Given the description of an element on the screen output the (x, y) to click on. 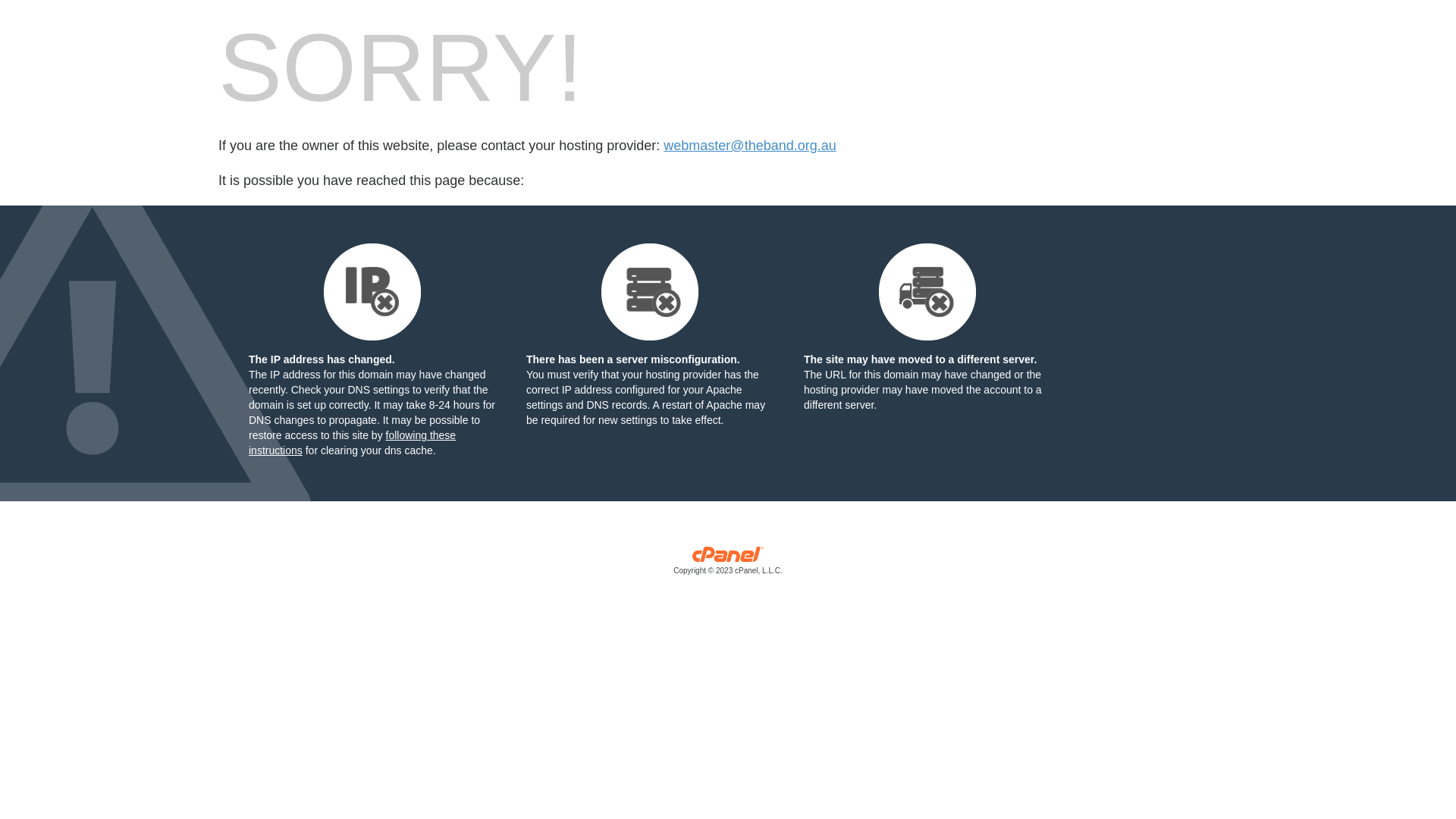
webmaster@theband.org.au Element type: text (749, 145)
following these instructions Element type: text (351, 442)
